Given the description of an element on the screen output the (x, y) to click on. 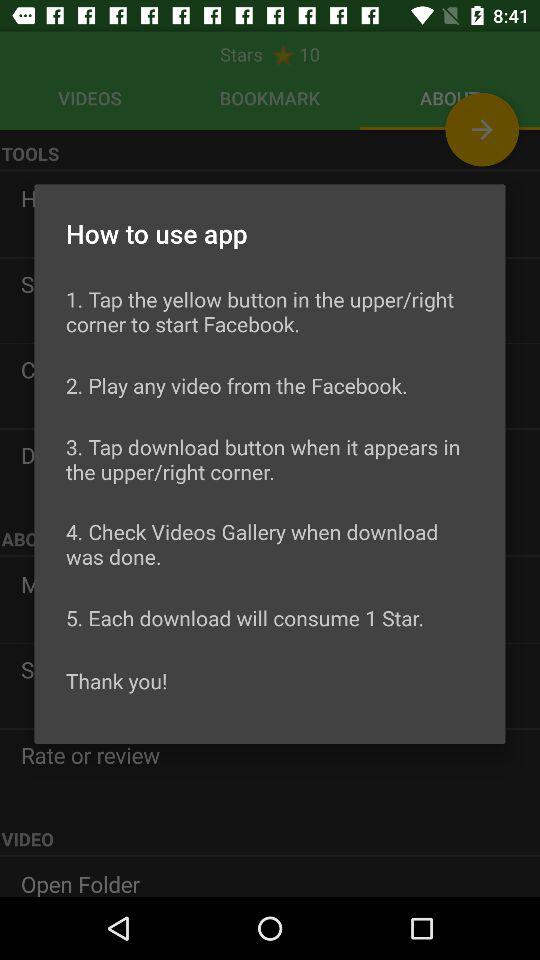
turn off item below the 4 check videos icon (245, 617)
